Given the description of an element on the screen output the (x, y) to click on. 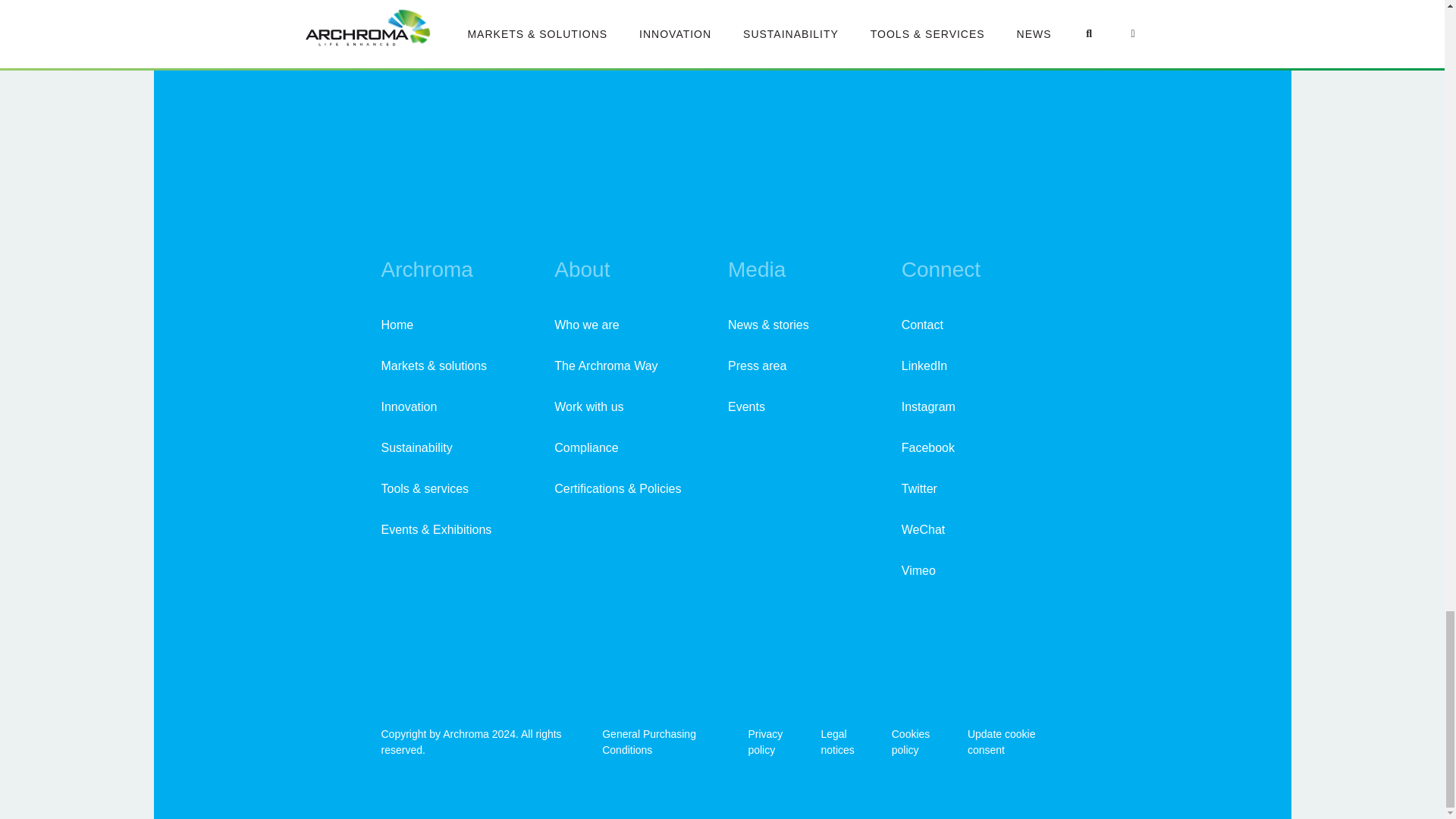
Instagram (928, 406)
Home (396, 324)
LinkedIn (924, 365)
Events (746, 406)
Work with us (588, 406)
Innovation (408, 406)
Sustainability (415, 447)
The Archroma Way (606, 365)
Who we are (586, 324)
Press area (757, 365)
Compliance (585, 447)
Contact (922, 324)
